Given the description of an element on the screen output the (x, y) to click on. 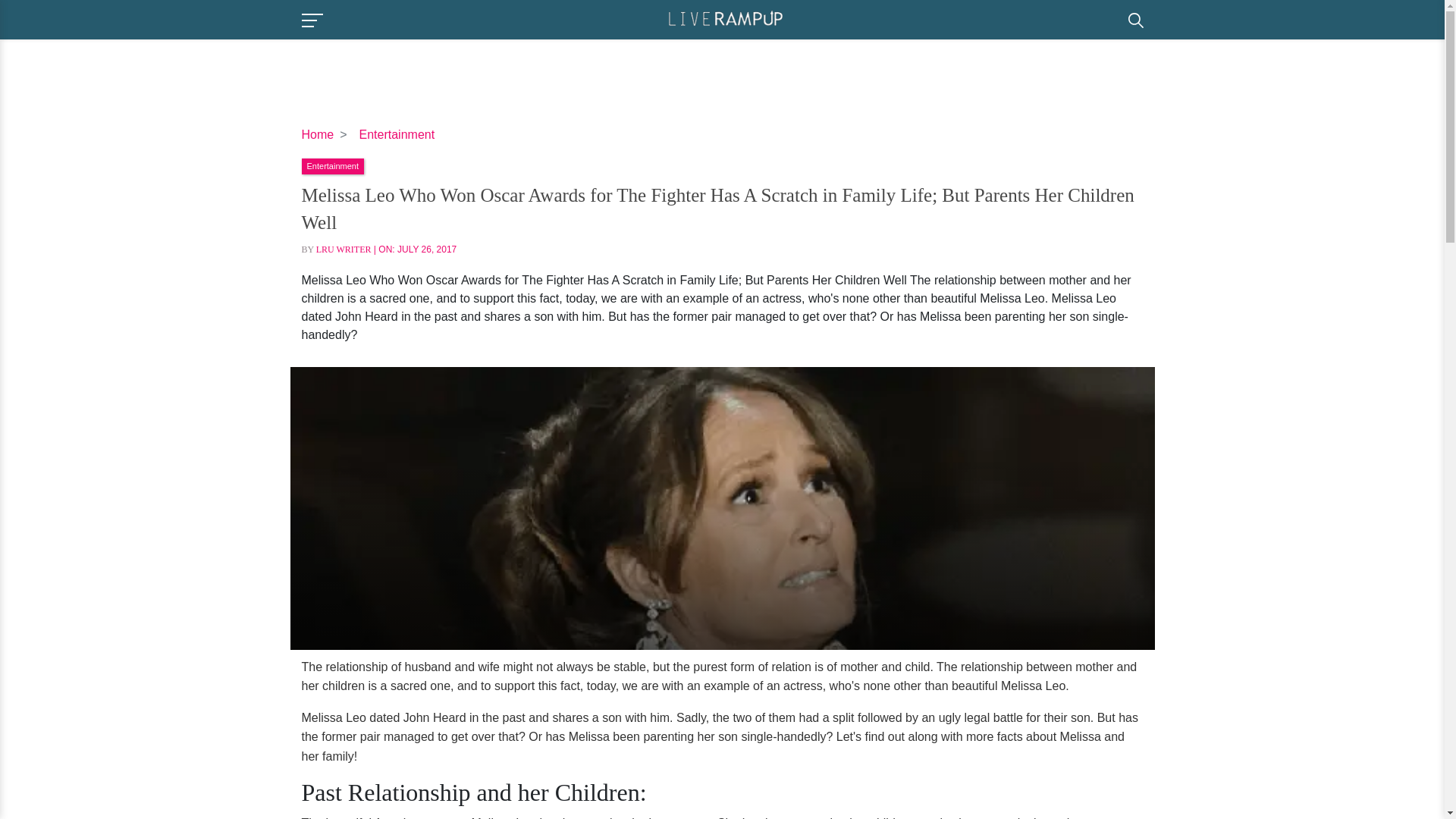
LRU WRITER (343, 249)
Liverampup (725, 17)
Home (317, 133)
Entertainment (397, 133)
Entertainment (332, 164)
